Given the description of an element on the screen output the (x, y) to click on. 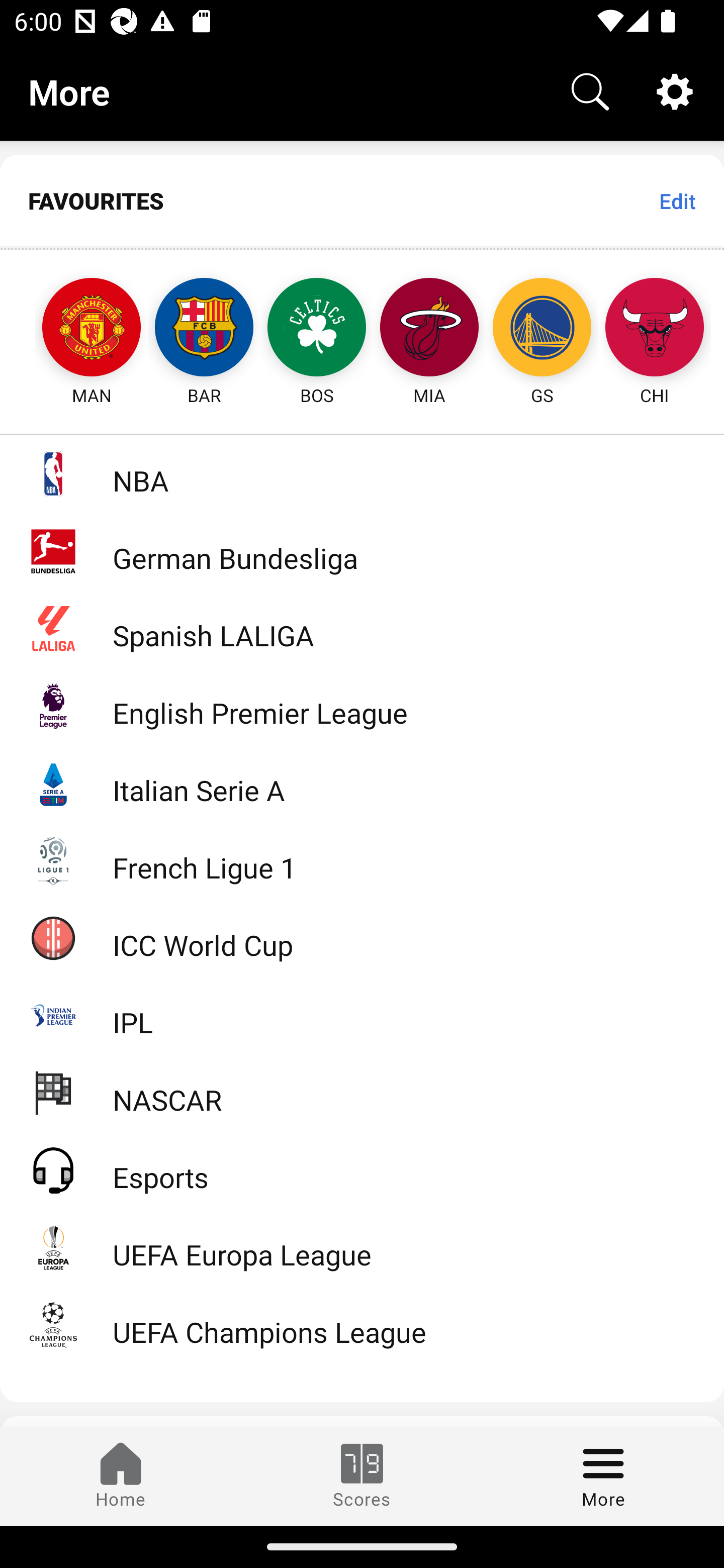
Search (590, 90)
Settings (674, 90)
Edit (676, 200)
MAN Manchester United (73, 328)
BAR Barcelona (203, 328)
BOS Boston Celtics (316, 328)
MIA Miami Heat (428, 328)
GS Golden State Warriors (541, 328)
CHI Chicago Bulls (654, 328)
NBA (362, 473)
German Bundesliga (362, 550)
Spanish LALIGA (362, 627)
English Premier League (362, 705)
Italian Serie A (362, 782)
French Ligue 1 (362, 859)
ICC World Cup (362, 937)
IPL (362, 1014)
NASCAR (362, 1091)
Esports (362, 1169)
UEFA Europa League (362, 1246)
UEFA Champions League (362, 1324)
Home (120, 1475)
Scores (361, 1475)
